Given the description of an element on the screen output the (x, y) to click on. 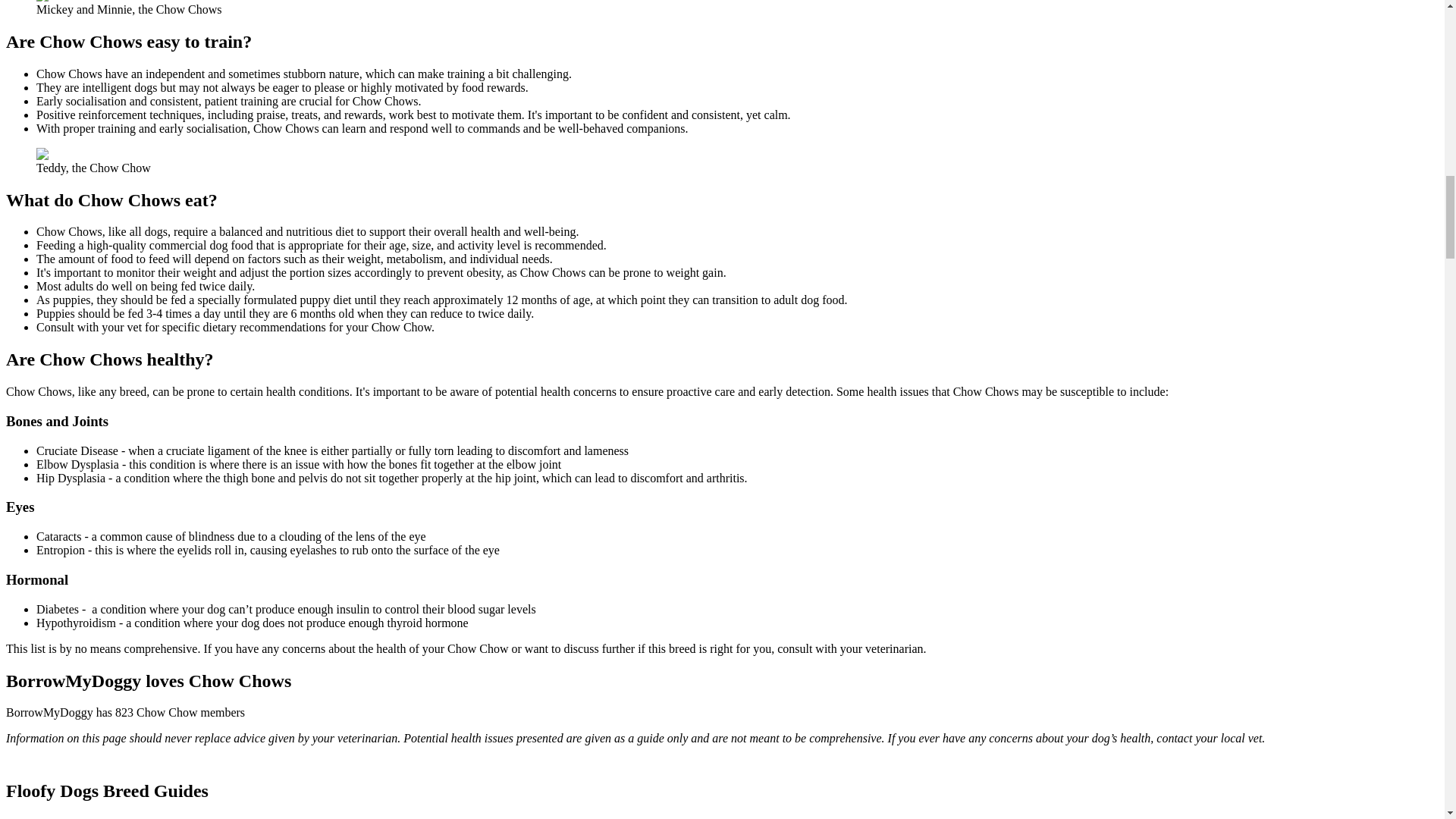
Bernese Mountain Dog (62, 817)
